Given the description of an element on the screen output the (x, y) to click on. 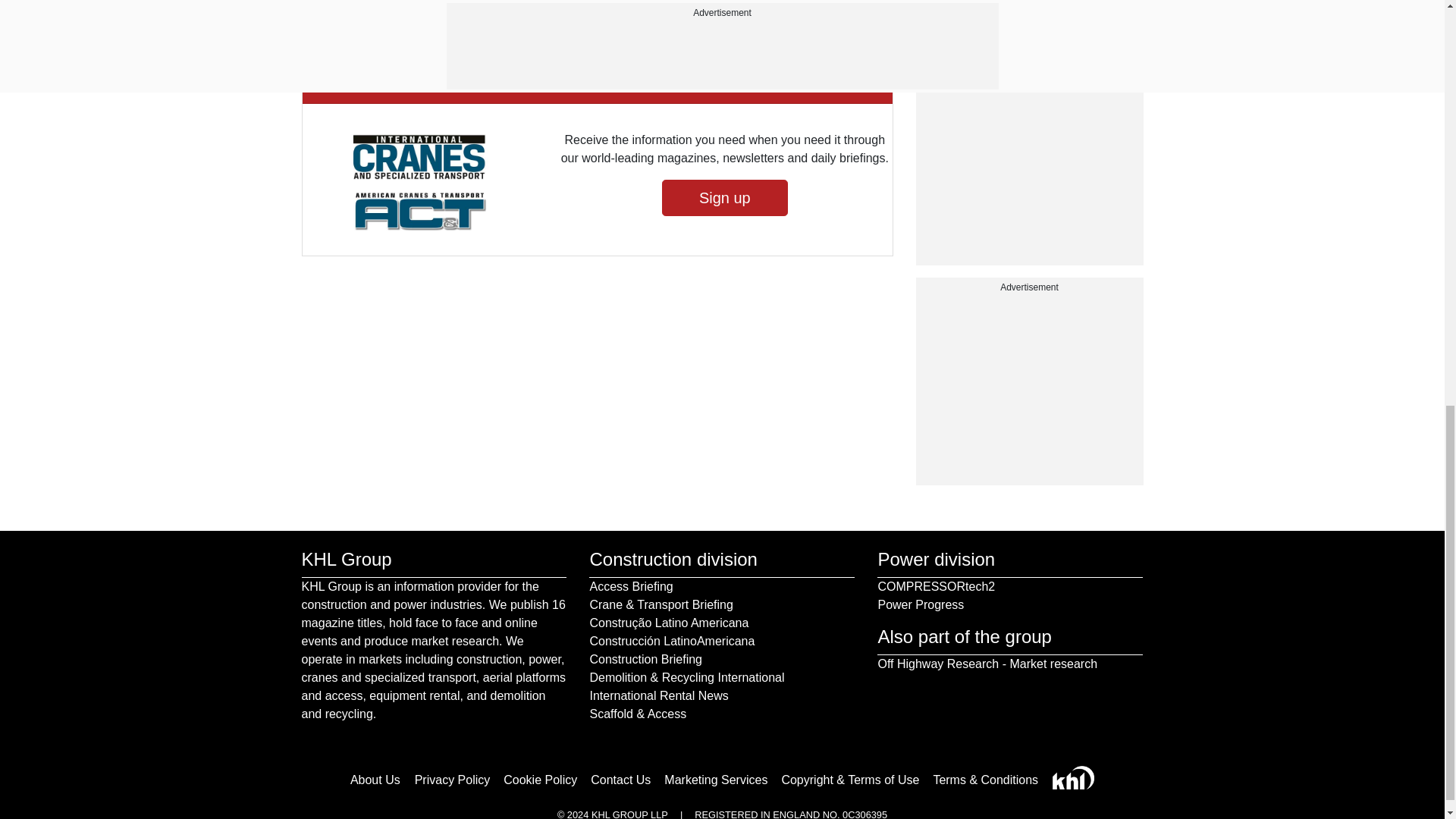
3rd party ad content (1028, 170)
Share this page via email (408, 2)
Share this page on Facebook (316, 2)
Share this page on Twitter (347, 2)
3rd party ad content (1028, 22)
Share this page on Linkedin (377, 2)
3rd party ad content (1028, 390)
